Given the description of an element on the screen output the (x, y) to click on. 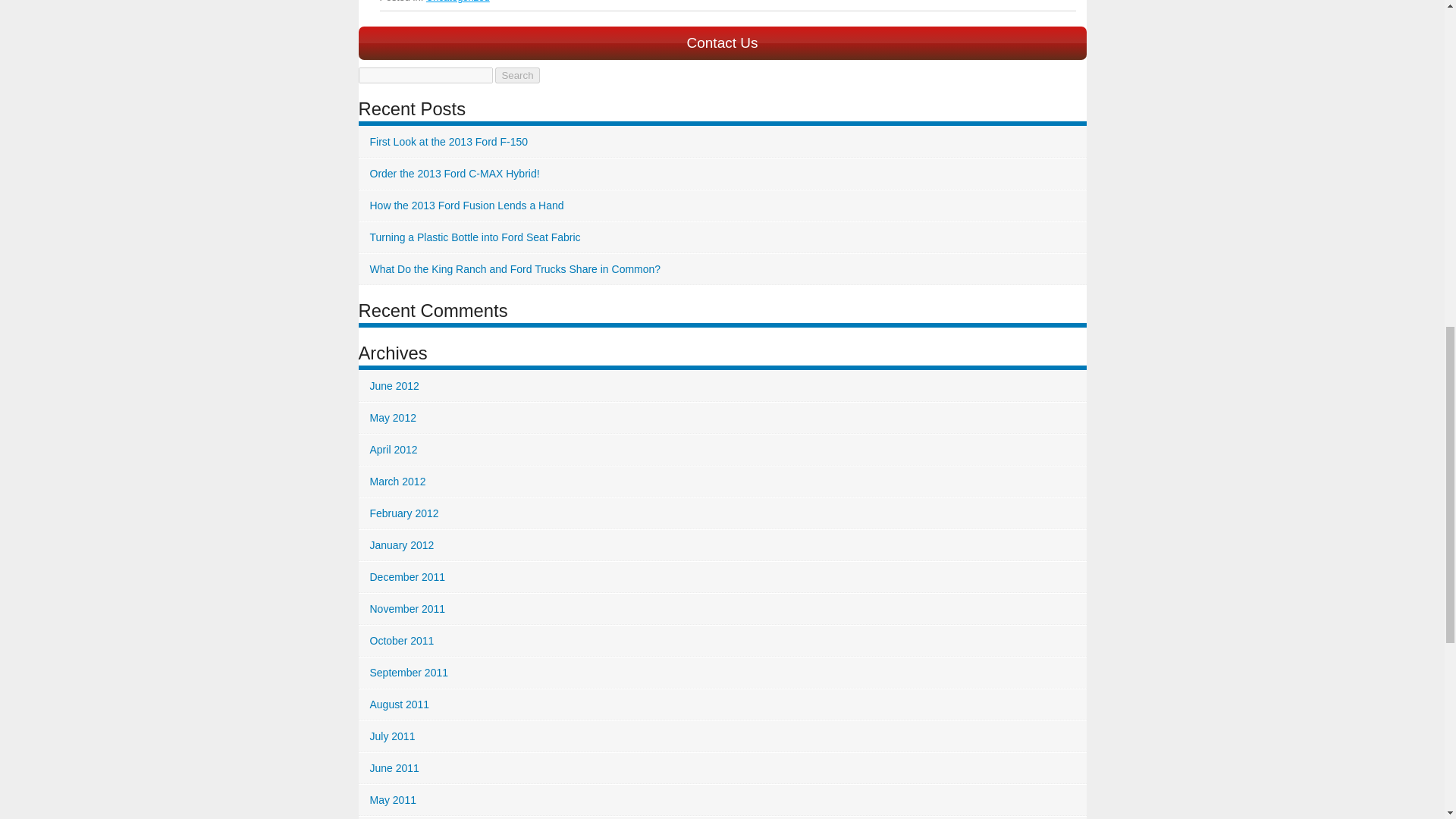
Search (516, 75)
November 2011 (722, 608)
Search (516, 75)
Order the 2013 Ford C-MAX Hybrid! (722, 173)
May 2012 (722, 418)
January 2012 (722, 545)
February 2012 (722, 513)
First Look at the 2013 Ford F-150 (722, 142)
Contact Us (722, 42)
April 2012 (722, 450)
March 2012 (722, 481)
December 2011 (722, 576)
June 2012 (722, 386)
Turning a Plastic Bottle into Ford Seat Fabric (722, 237)
What Do the King Ranch and Ford Trucks Share in Common? (722, 269)
